Given the description of an element on the screen output the (x, y) to click on. 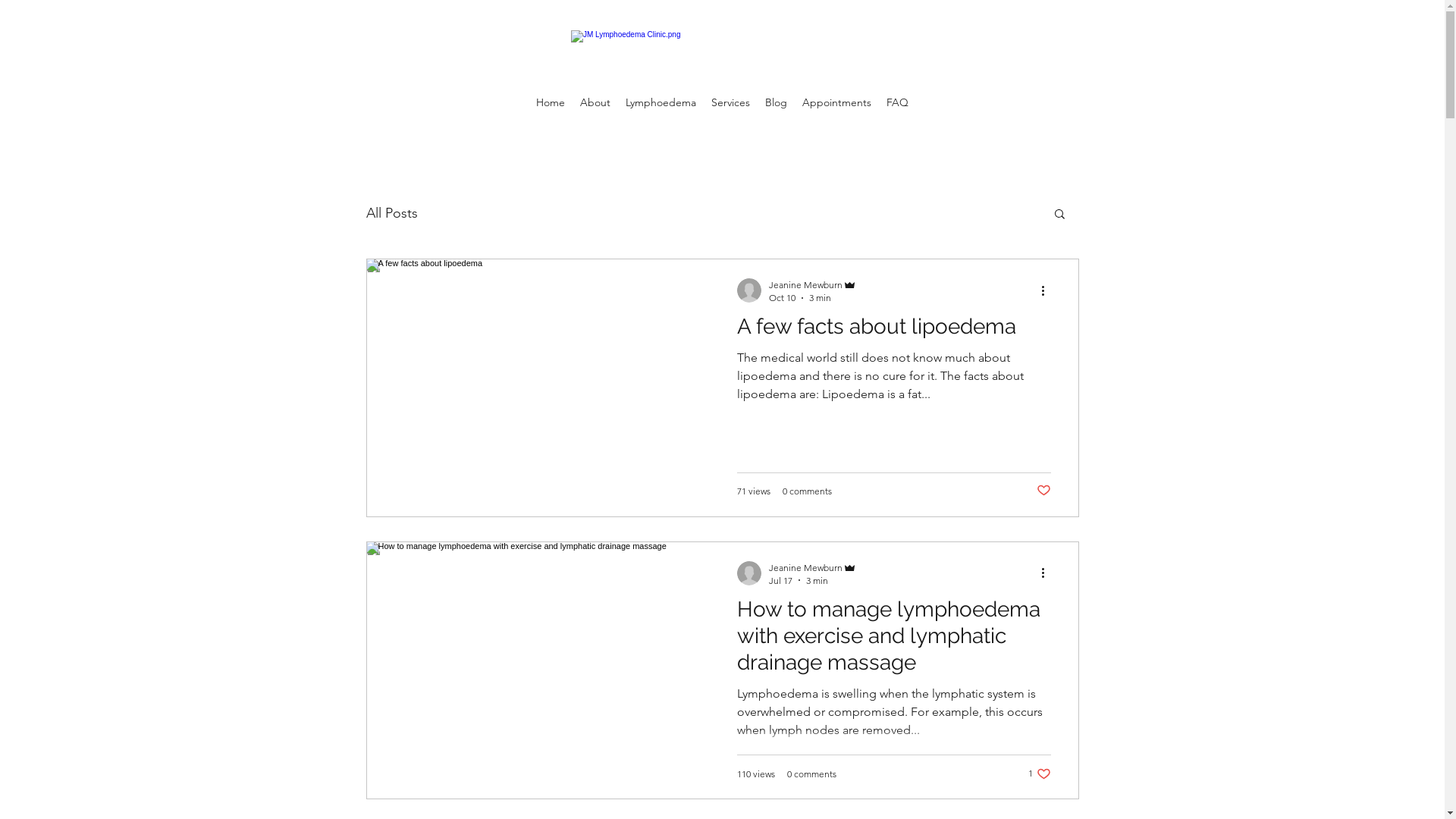
FAQ Element type: text (897, 102)
1 like. Post not marked as liked
1 Element type: text (1039, 772)
Lymphoedema Element type: text (660, 102)
Services Element type: text (730, 102)
0 comments Element type: text (811, 772)
Appointments Element type: text (836, 102)
A few facts about lipoedema Element type: text (894, 330)
Post not marked as liked Element type: text (1042, 490)
Home Element type: text (550, 102)
All Posts Element type: text (391, 212)
0 comments Element type: text (806, 490)
Blog Element type: text (775, 102)
About Element type: text (595, 102)
